Given the description of an element on the screen output the (x, y) to click on. 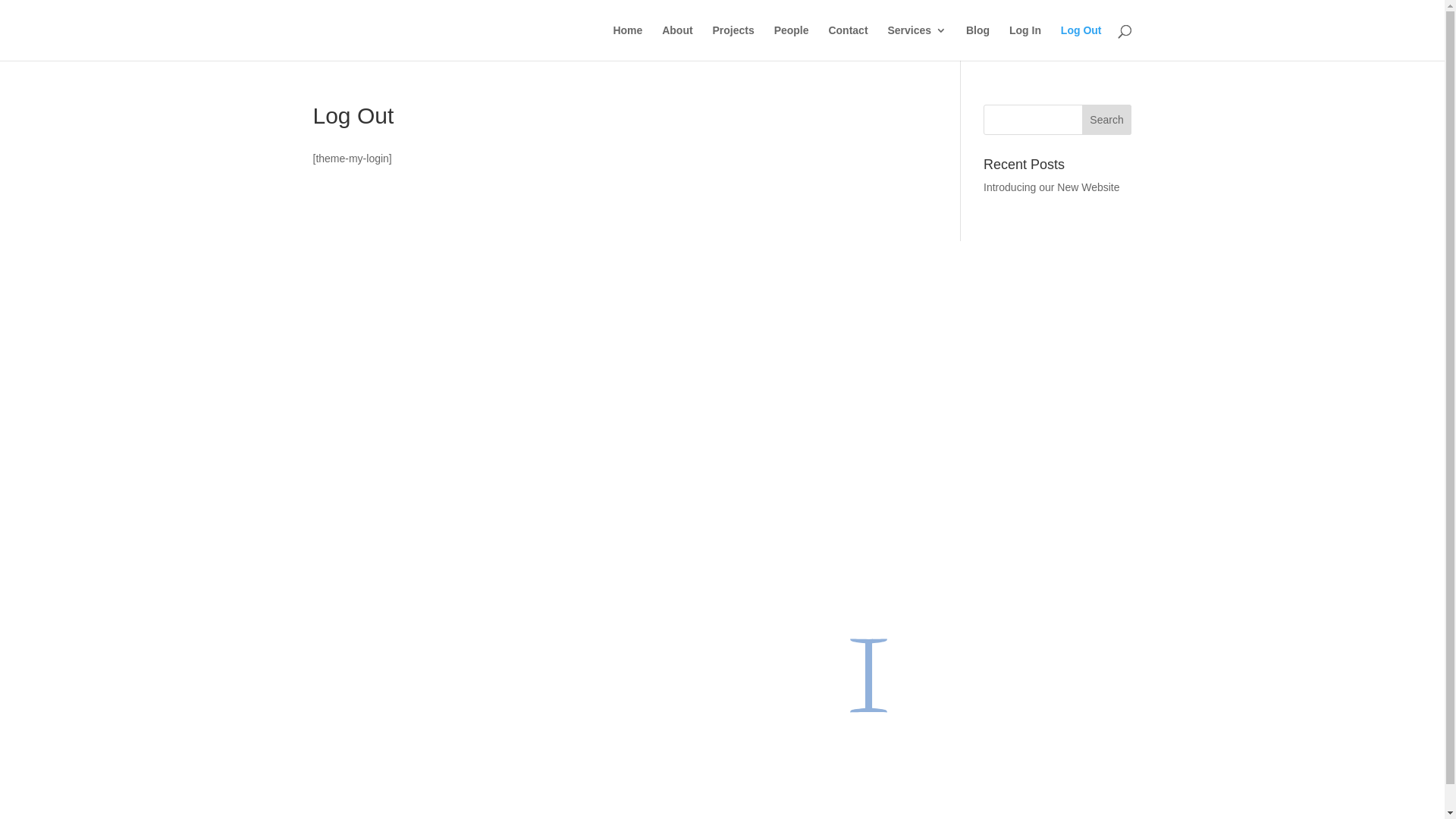
Services Element type: text (916, 42)
Follow on Twitter Element type: hover (1009, 339)
Log In Element type: text (1025, 42)
Blog Element type: text (977, 42)
Follow on Facebook Element type: hover (979, 339)
Follow on Instagram Element type: hover (1040, 339)
Introducing our New Website Element type: text (1051, 187)
Log Out Element type: text (1080, 42)
About Element type: text (677, 42)
Search Element type: text (1107, 119)
Home Element type: text (627, 42)
People Element type: text (791, 42)
Contact Element type: text (847, 42)
Projects Element type: text (733, 42)
